Given the description of an element on the screen output the (x, y) to click on. 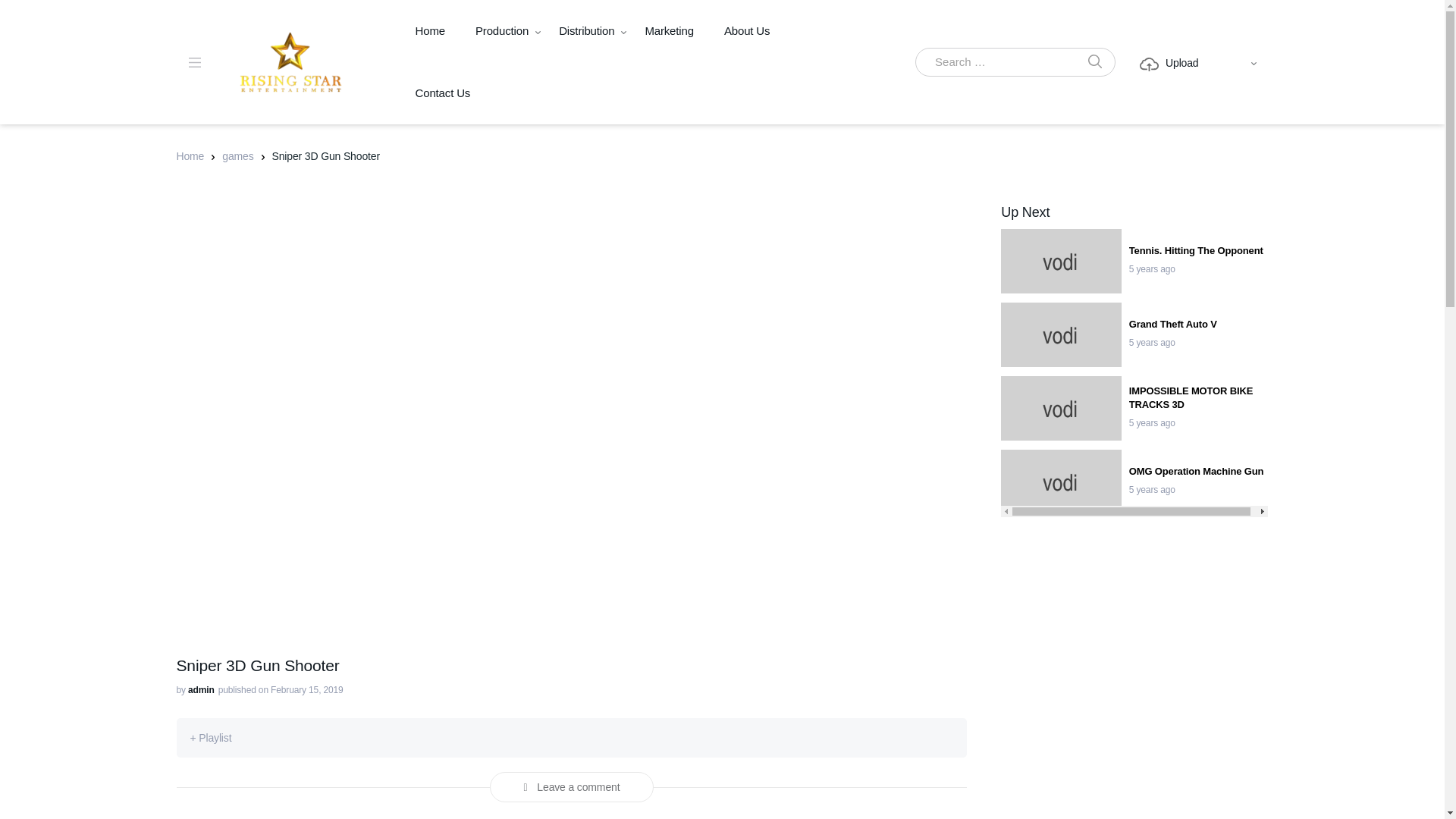
SEARCH (1094, 62)
About Us (747, 31)
Production (501, 31)
Contact Us (443, 93)
Upload (1169, 63)
Marketing (668, 31)
Home (430, 31)
Distribution (585, 31)
